Given the description of an element on the screen output the (x, y) to click on. 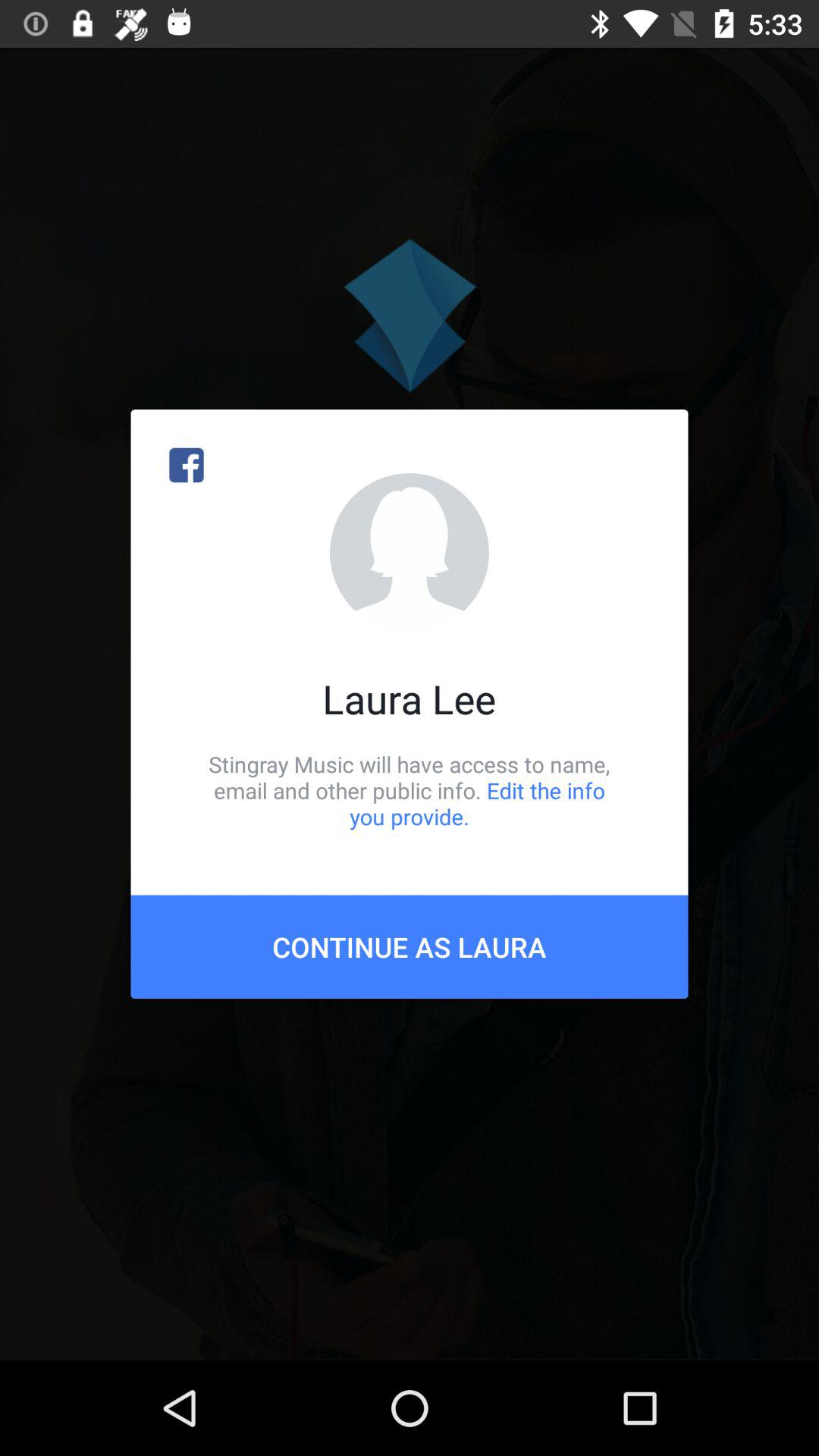
turn off item above continue as laura (409, 790)
